Given the description of an element on the screen output the (x, y) to click on. 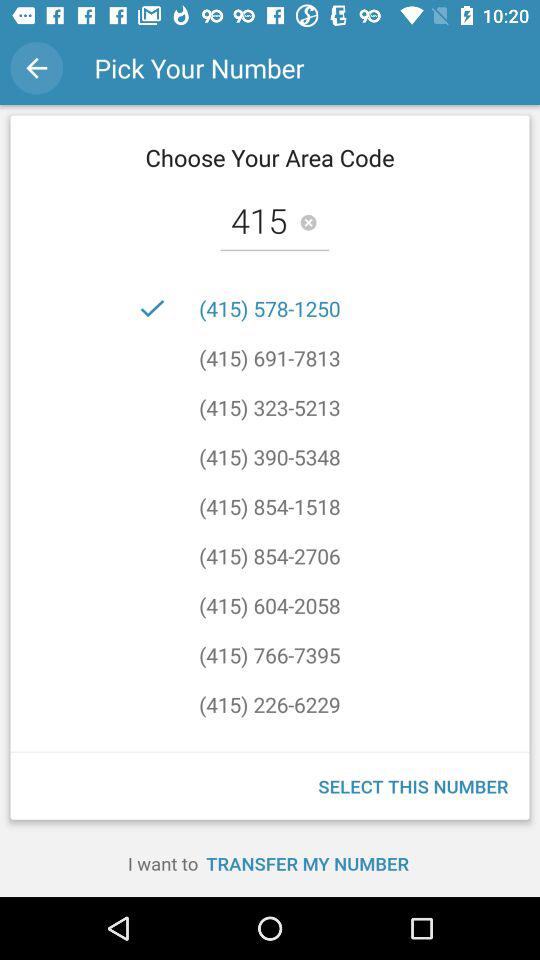
click (415) 766-7395 (269, 654)
